Given the description of an element on the screen output the (x, y) to click on. 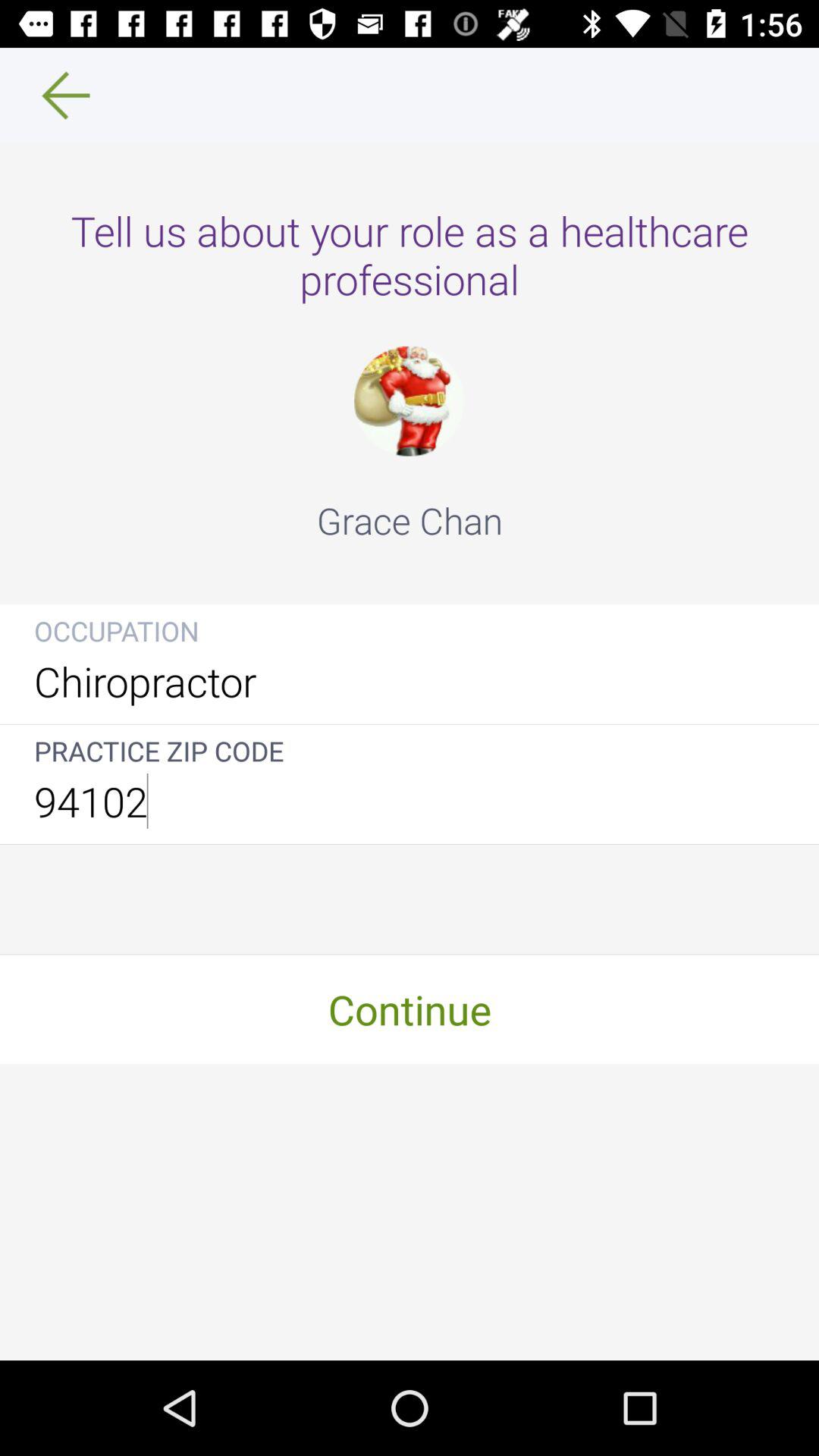
open item above the continue (409, 800)
